Given the description of an element on the screen output the (x, y) to click on. 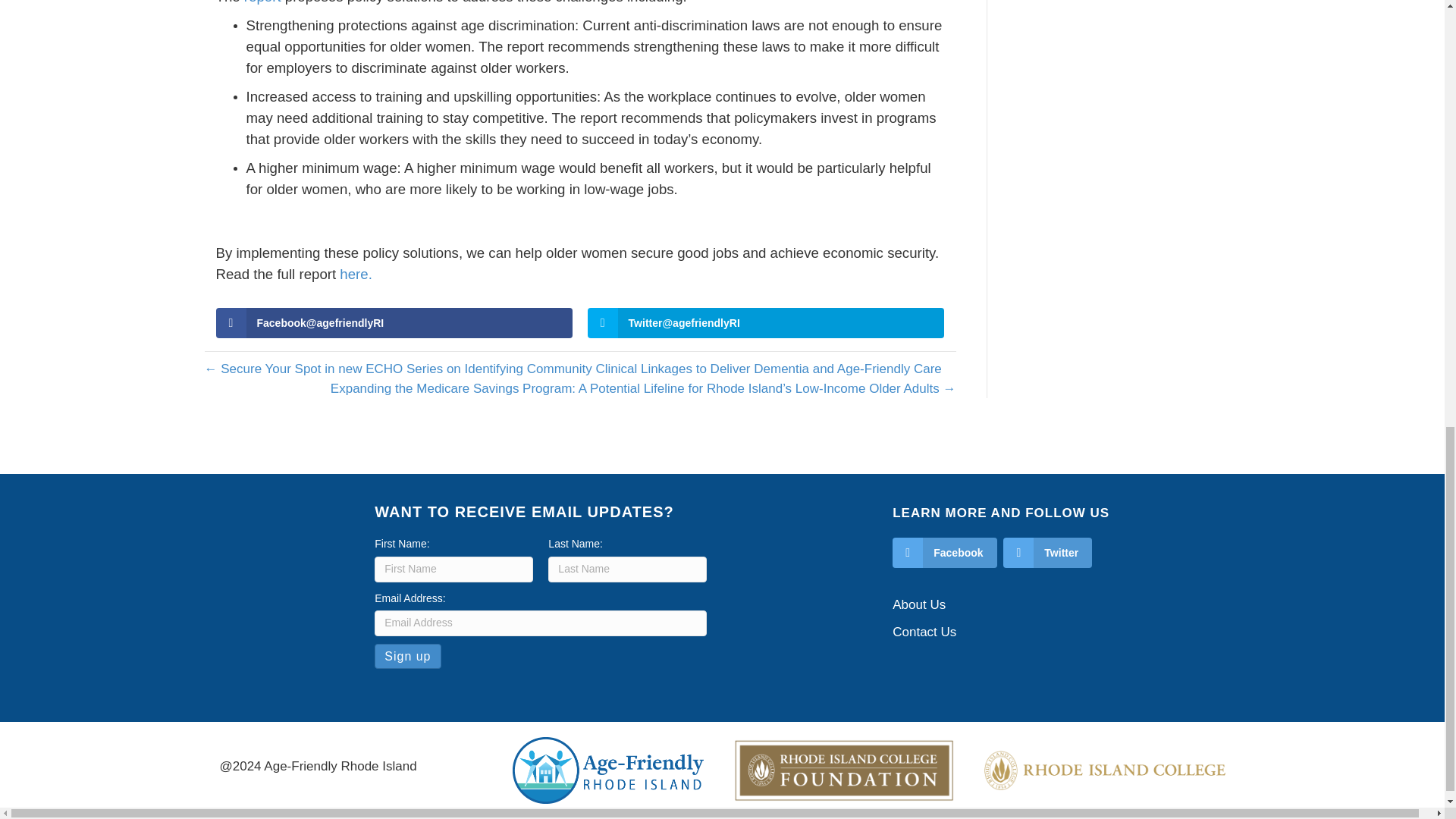
here.  (355, 273)
Sign up (407, 656)
Sign up (407, 656)
report (262, 2)
